Given the description of an element on the screen output the (x, y) to click on. 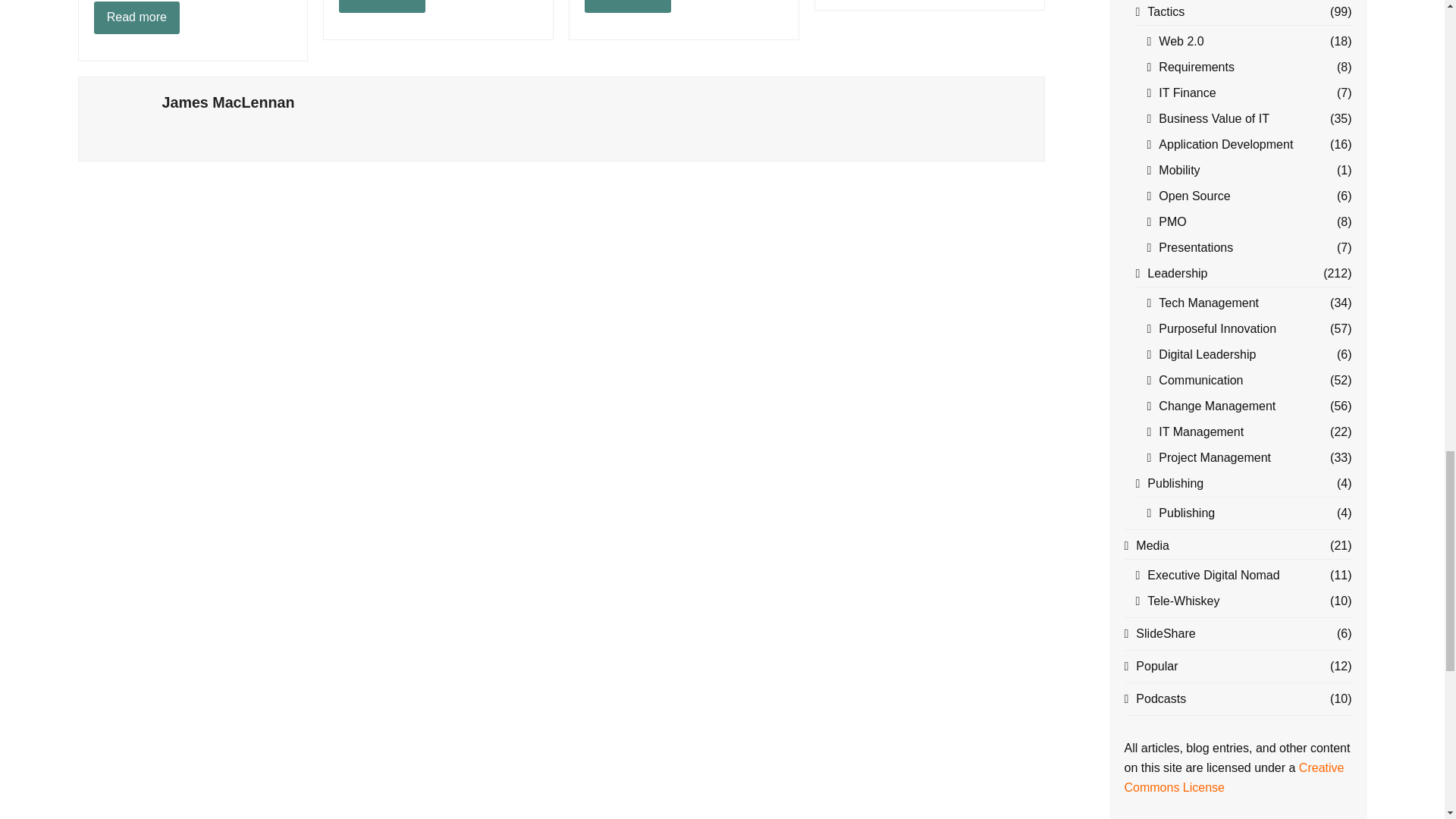
Visit Author Page (228, 102)
Read more (628, 6)
Read more (382, 6)
Visit Author Page (120, 118)
James MacLennan (228, 102)
Read more (137, 18)
